Given the description of an element on the screen output the (x, y) to click on. 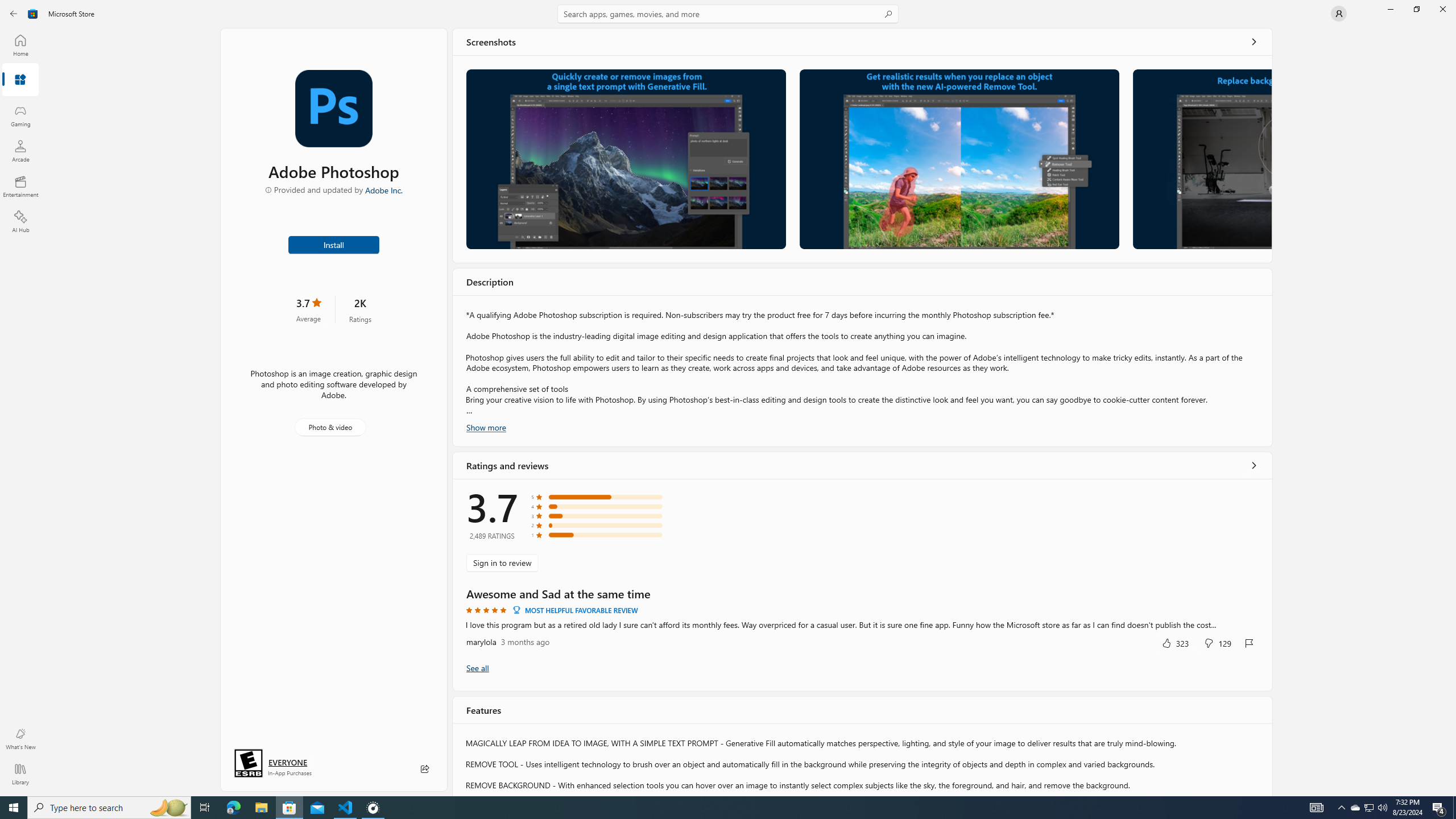
Restore Microsoft Store (1416, 9)
Show all ratings and reviews (1253, 465)
Report review (1248, 642)
Arcade (20, 150)
3.7 stars. Click to skip to ratings and reviews (307, 309)
Library (20, 773)
Share (424, 769)
Screenshot 3 (1201, 158)
Back (13, 13)
Apps (20, 80)
Sign in to review (501, 562)
Search (727, 13)
No, this was not helpful. 129 votes. (1217, 642)
Age rating: EVERYONE. Click for more information. (287, 762)
